Given the description of an element on the screen output the (x, y) to click on. 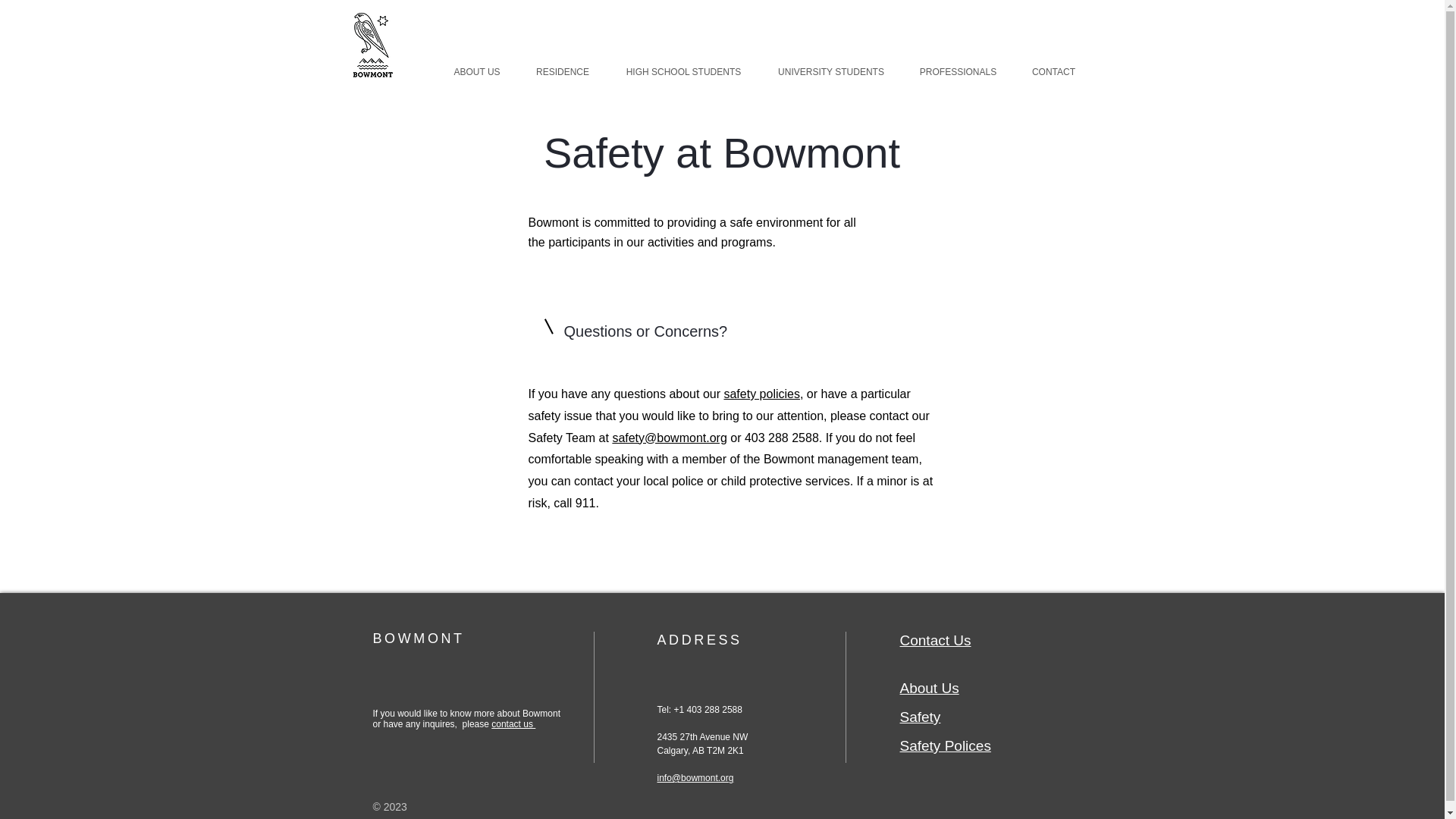
CONTACT (1053, 72)
RESIDENCE (562, 72)
Safety Polices (944, 745)
Safety (919, 716)
ABOUT US (476, 72)
safety policies (761, 393)
Contact Us (935, 640)
contact us  (513, 724)
About Us (928, 688)
